Given the description of an element on the screen output the (x, y) to click on. 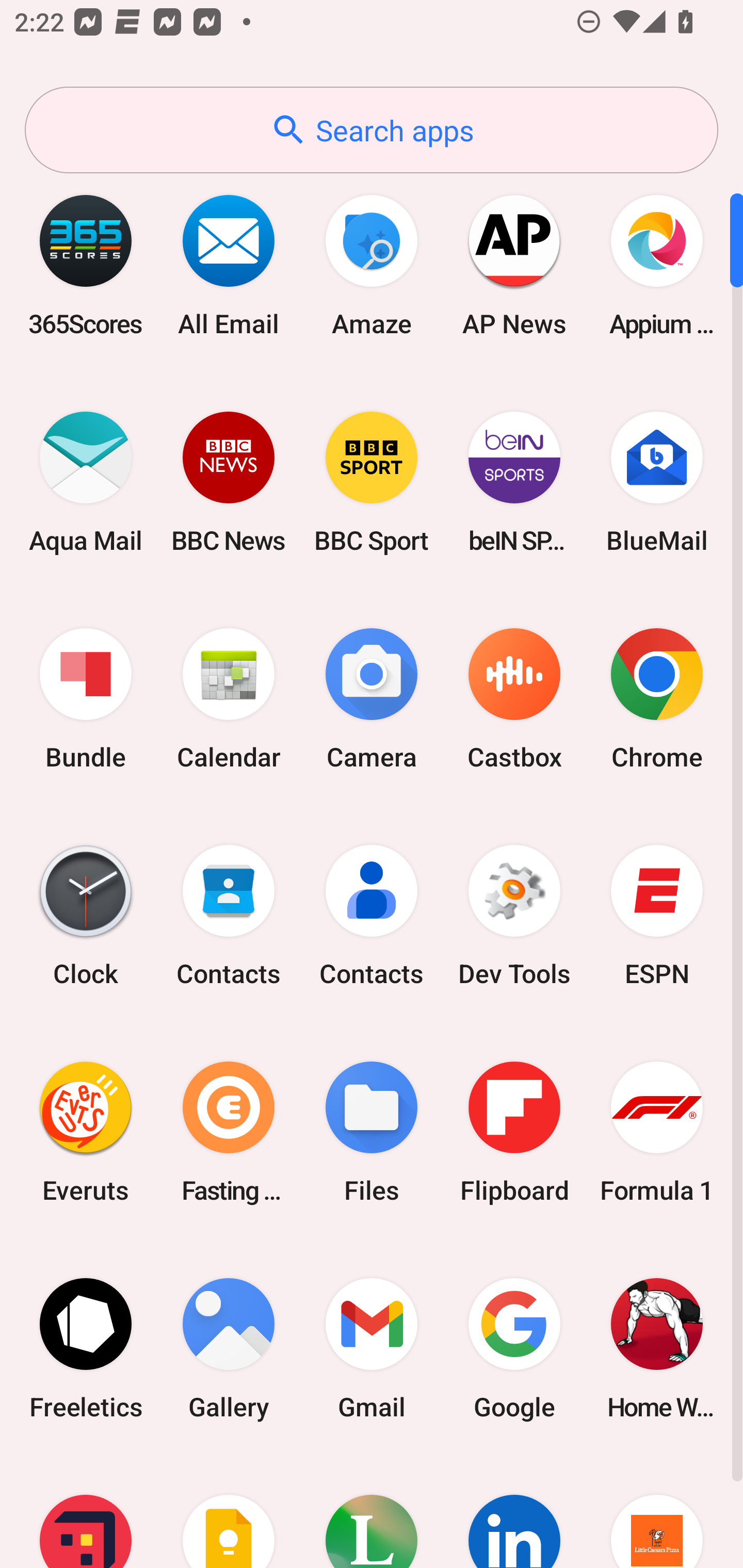
  Search apps (371, 130)
365Scores (85, 264)
All Email (228, 264)
Amaze (371, 264)
AP News (514, 264)
Appium Settings (656, 264)
Aqua Mail (85, 482)
BBC News (228, 482)
BBC Sport (371, 482)
beIN SPORTS (514, 482)
BlueMail (656, 482)
Bundle (85, 699)
Calendar (228, 699)
Camera (371, 699)
Castbox (514, 699)
Chrome (656, 699)
Clock (85, 915)
Contacts (228, 915)
Contacts (371, 915)
Dev Tools (514, 915)
ESPN (656, 915)
Everuts (85, 1131)
Fasting Coach (228, 1131)
Files (371, 1131)
Flipboard (514, 1131)
Formula 1 (656, 1131)
Freeletics (85, 1348)
Gallery (228, 1348)
Gmail (371, 1348)
Google (514, 1348)
Home Workout (656, 1348)
Hotels.com (85, 1512)
Keep Notes (228, 1512)
Lifesum (371, 1512)
LinkedIn (514, 1512)
Little Caesars Pizza (656, 1512)
